Given the description of an element on the screen output the (x, y) to click on. 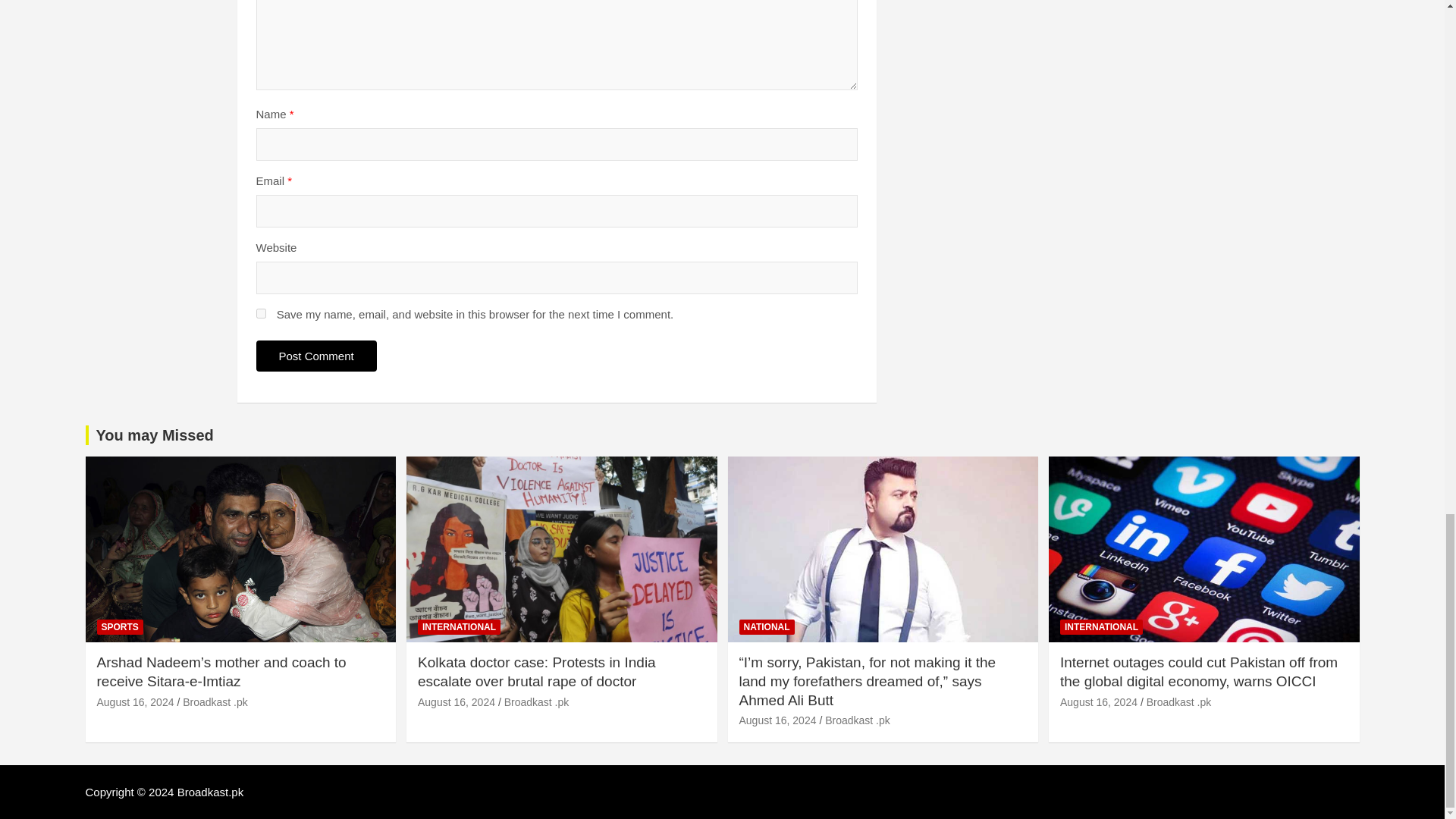
Post Comment (316, 355)
yes (261, 313)
Post Comment (316, 355)
Broadkast.pk (210, 791)
